Given the description of an element on the screen output the (x, y) to click on. 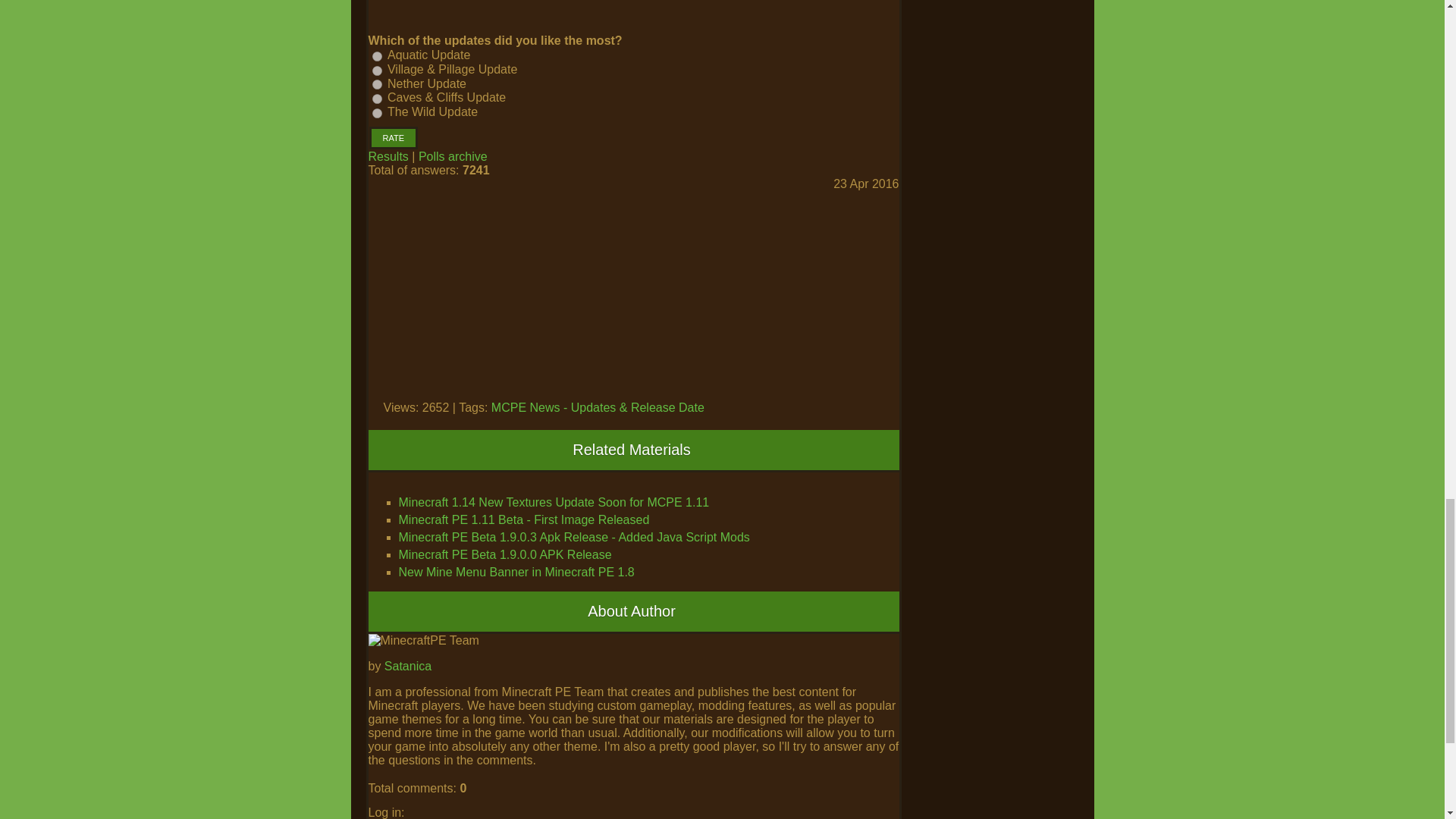
2 (376, 71)
Rate (392, 137)
Minecraft 1.14 New Textures Update Soon for MCPE 1.11 (554, 502)
4 (376, 99)
Minecraft PE Beta 1.9.0.0 APK Release (504, 554)
Minecraft PE 1.11 Beta - First Image Released (523, 519)
3 (376, 84)
5 (376, 112)
1 (376, 56)
